Given the description of an element on the screen output the (x, y) to click on. 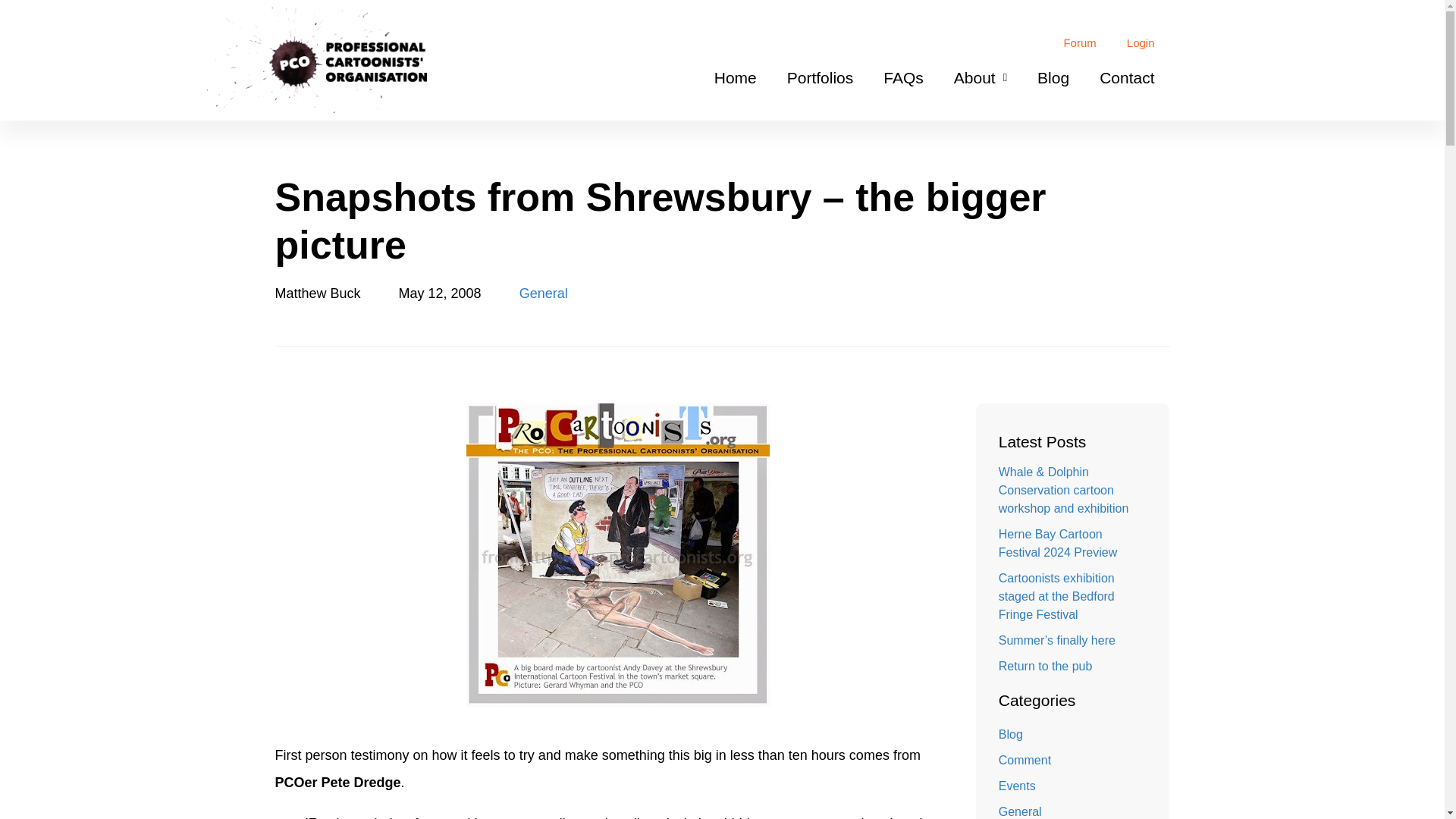
General (543, 293)
Blog (1053, 77)
May 12, 2008 (439, 293)
Forum (1079, 42)
Login (1141, 42)
Matthew Buck (317, 293)
Contact (1126, 77)
Portfolios (820, 77)
About (980, 77)
FAQs (903, 77)
